Given the description of an element on the screen output the (x, y) to click on. 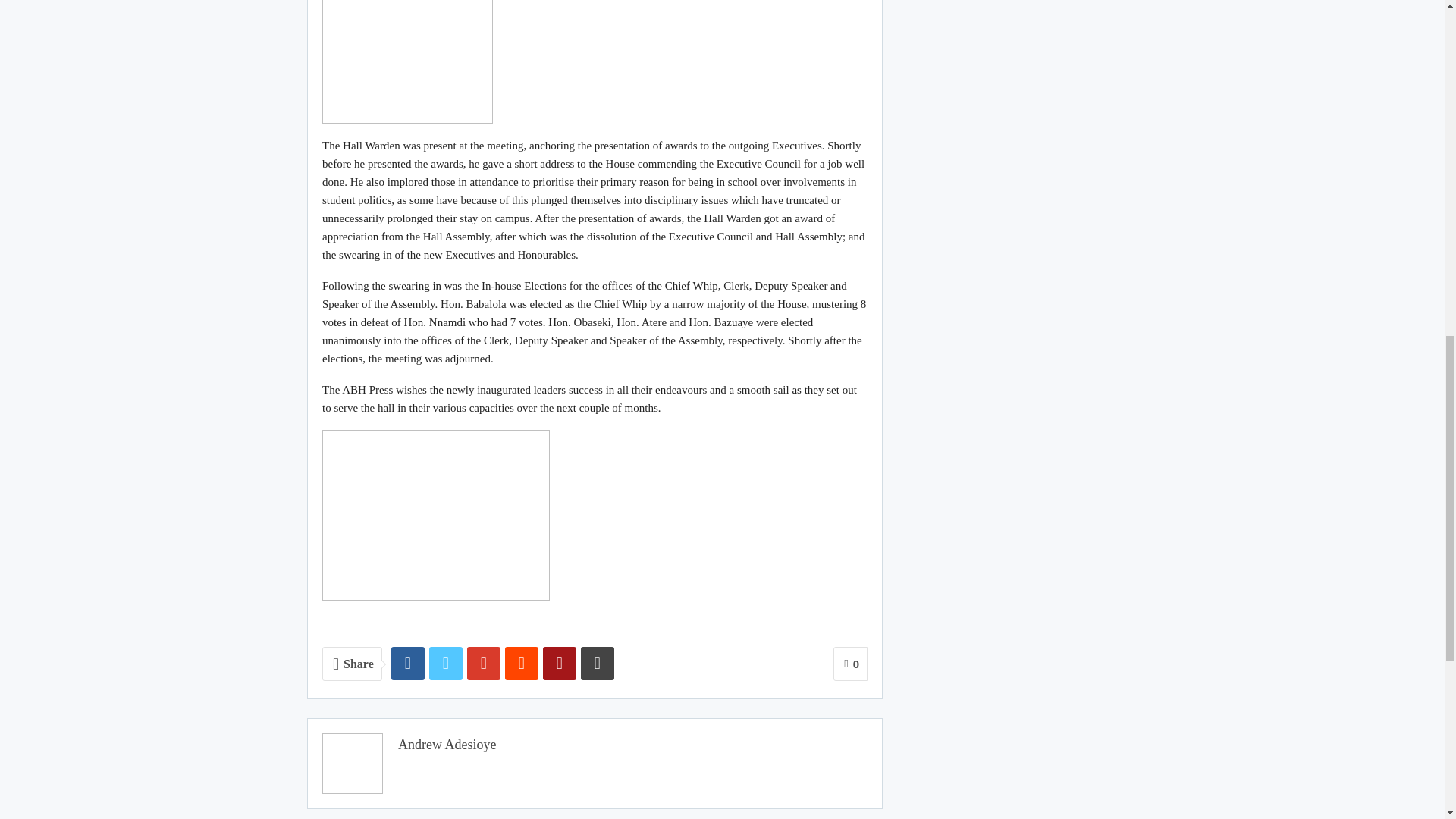
Andrew Adesioye (446, 744)
0 (849, 663)
